Given the description of an element on the screen output the (x, y) to click on. 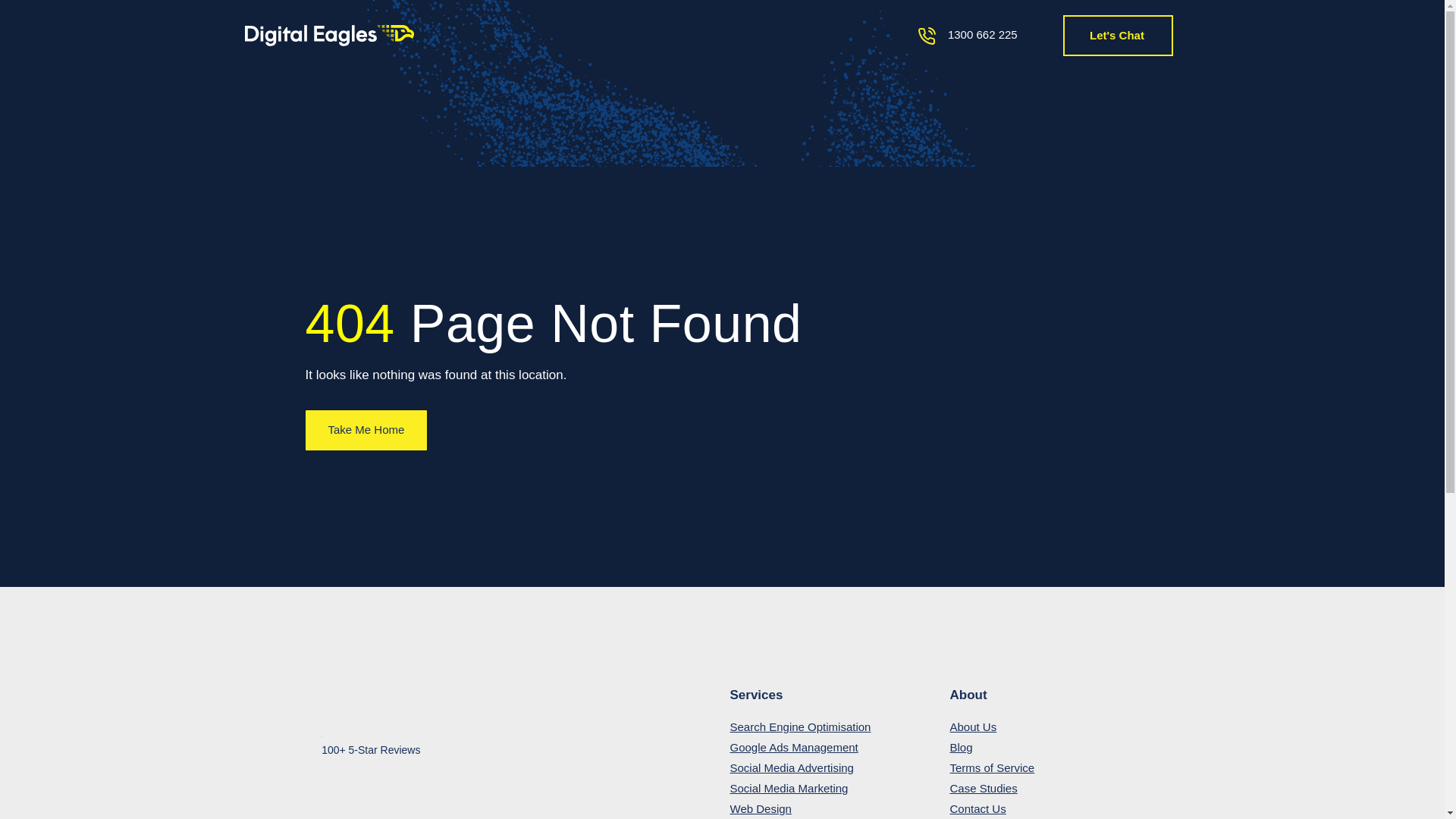
Take Me Home Element type: text (365, 430)
Social Media Marketing Element type: text (839, 787)
Search Engine Optimisation Element type: text (839, 726)
Terms of Service Element type: text (1059, 767)
Case Studies Element type: text (1059, 787)
About Us Element type: text (1059, 726)
1300 662 225 Element type: text (982, 33)
Google Ads Management Element type: text (839, 746)
Contact Us Element type: text (1059, 808)
Blog Element type: text (1059, 746)
Social Media Advertising Element type: text (839, 767)
Web Design Element type: text (839, 808)
Let's Chat Element type: text (1116, 35)
